Given the description of an element on the screen output the (x, y) to click on. 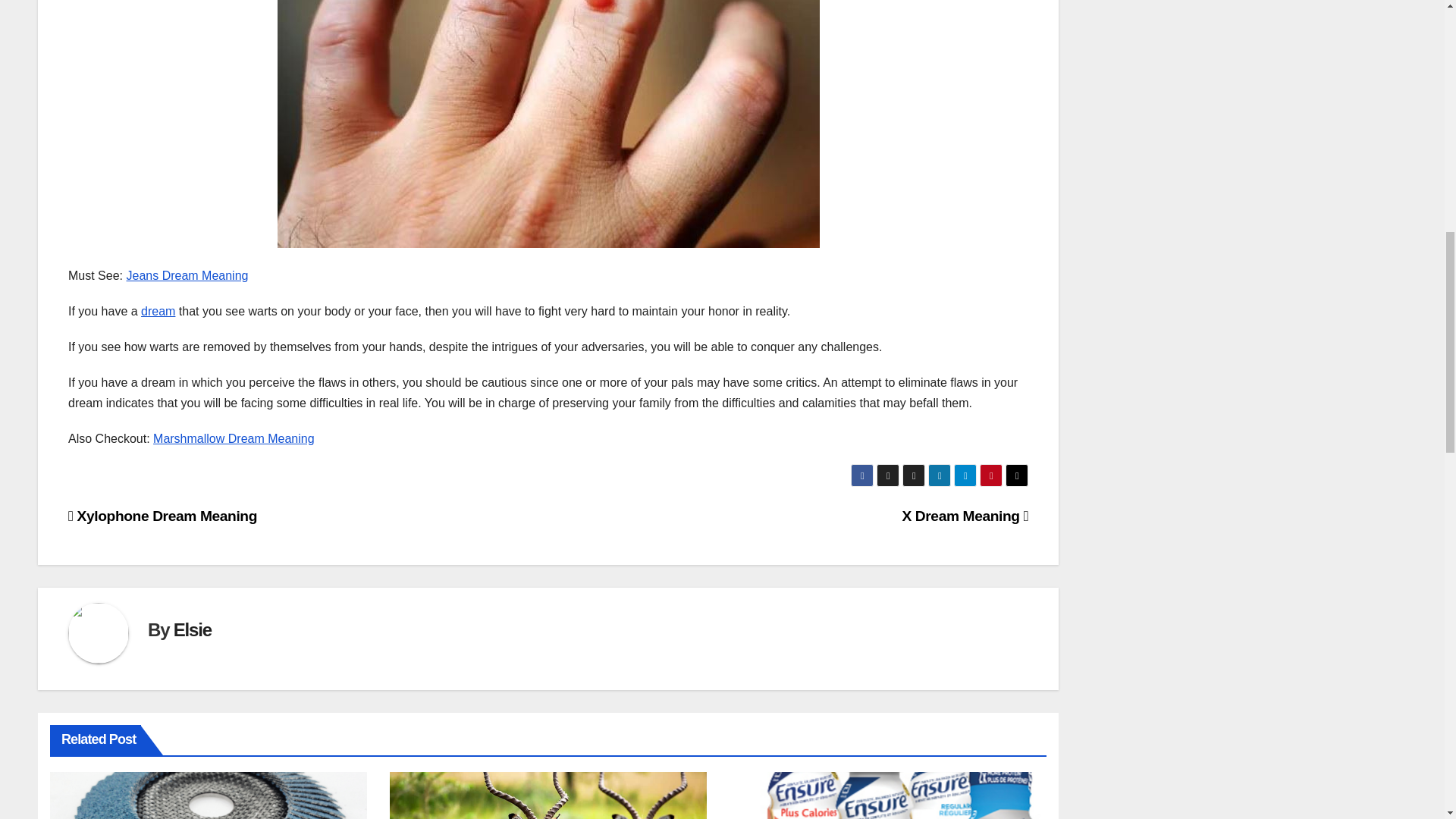
dream (157, 310)
Elsie (192, 629)
Xylophone Dream Meaning (162, 515)
Marshmallow Dream Meaning (233, 438)
Jeans Dream Meaning (186, 275)
X Dream Meaning (964, 515)
